Given the description of an element on the screen output the (x, y) to click on. 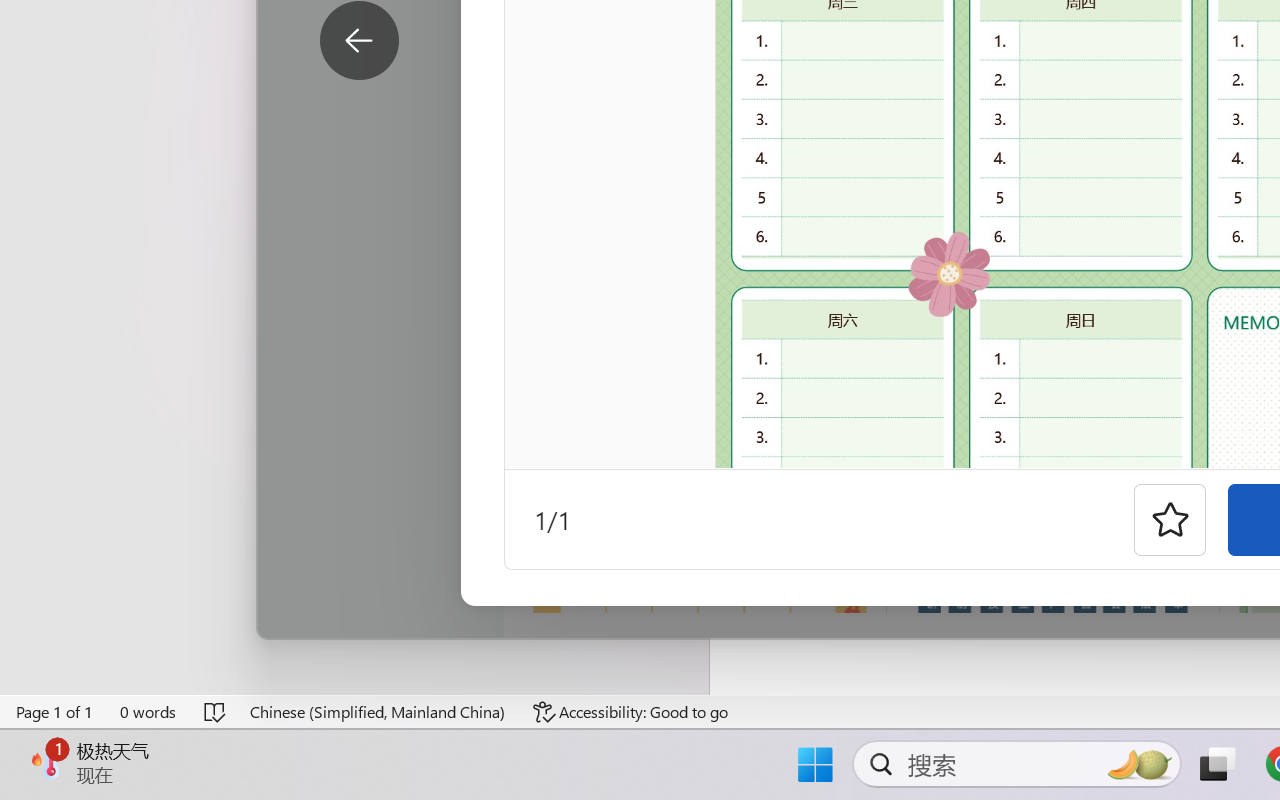
Language Chinese (Simplified, Mainland China) (378, 712)
